Given the description of an element on the screen output the (x, y) to click on. 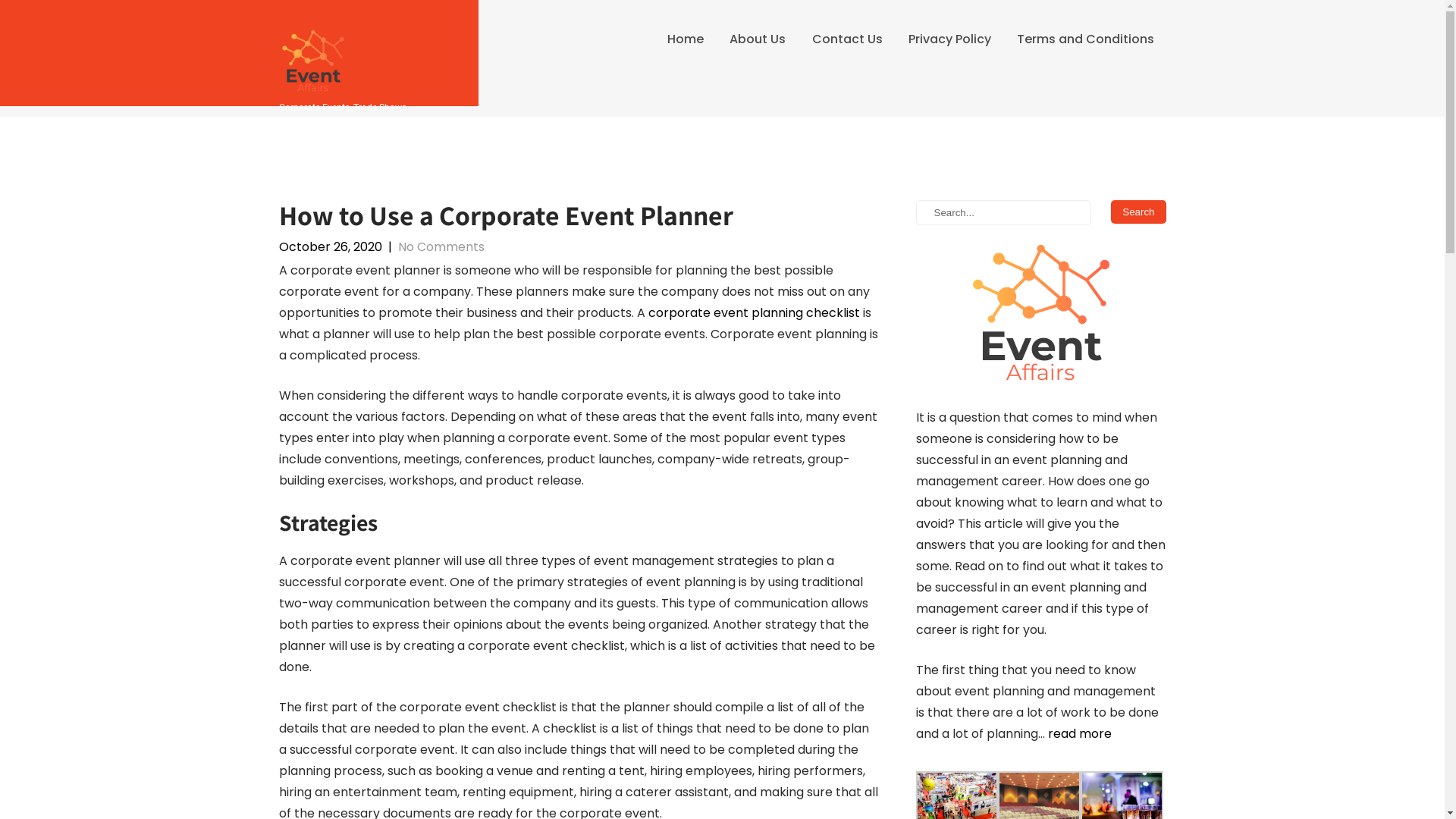
Terms and Conditions Element type: text (1085, 39)
No Comments Element type: text (440, 246)
corporate event planning checklist Element type: text (753, 312)
Corparate Events, Trade Shows Element type: text (342, 105)
Contact Us Element type: text (846, 39)
Privacy Policy Element type: text (949, 39)
Home Element type: text (685, 39)
About Us Element type: text (757, 39)
read more Element type: text (1079, 733)
Search Element type: text (1137, 211)
